Given the description of an element on the screen output the (x, y) to click on. 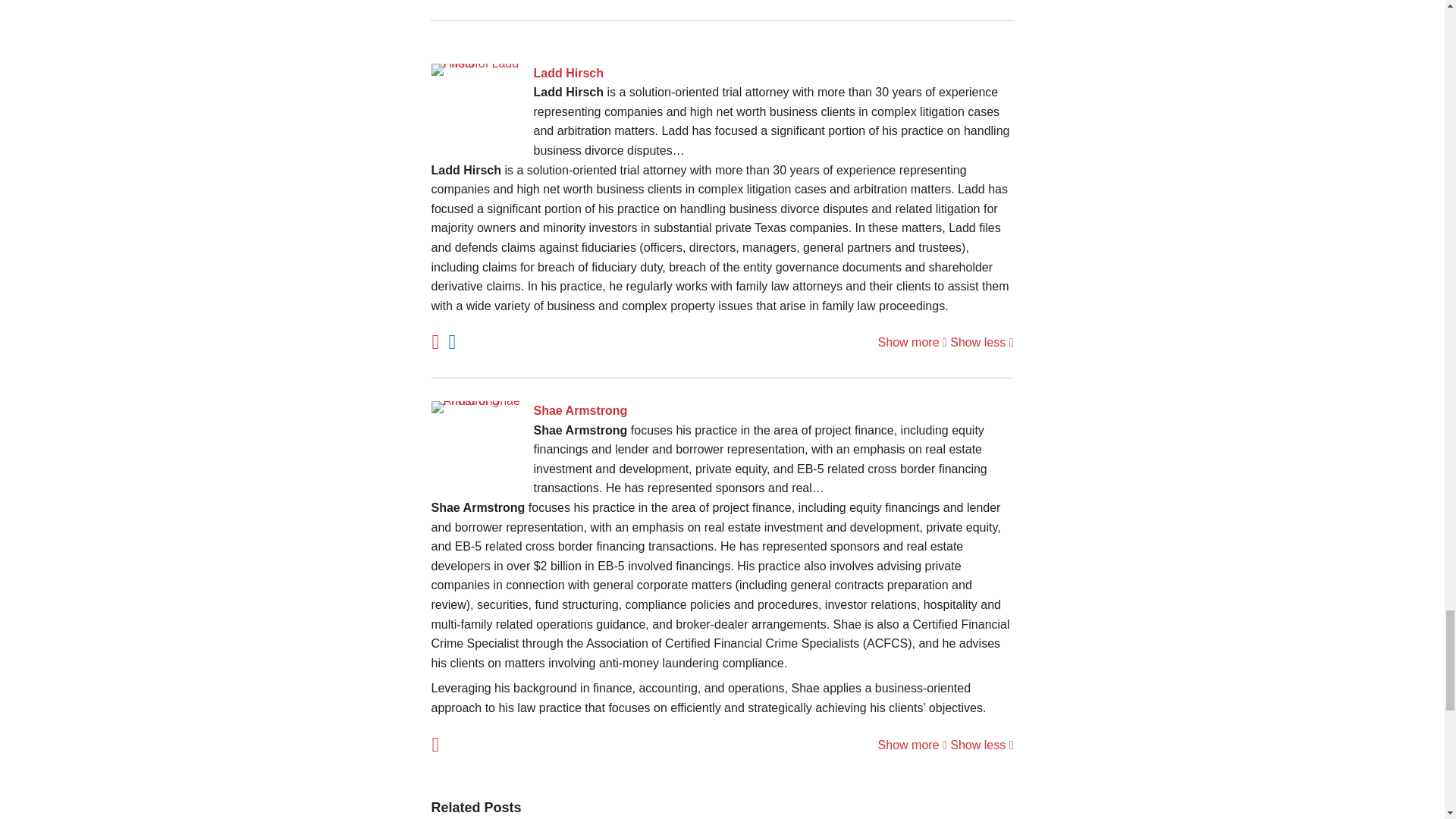
Show less (981, 341)
Shae Armstrong (721, 410)
Show less (981, 744)
Ladd Hirsch (721, 73)
Show more (912, 744)
Show more (912, 341)
